Given the description of an element on the screen output the (x, y) to click on. 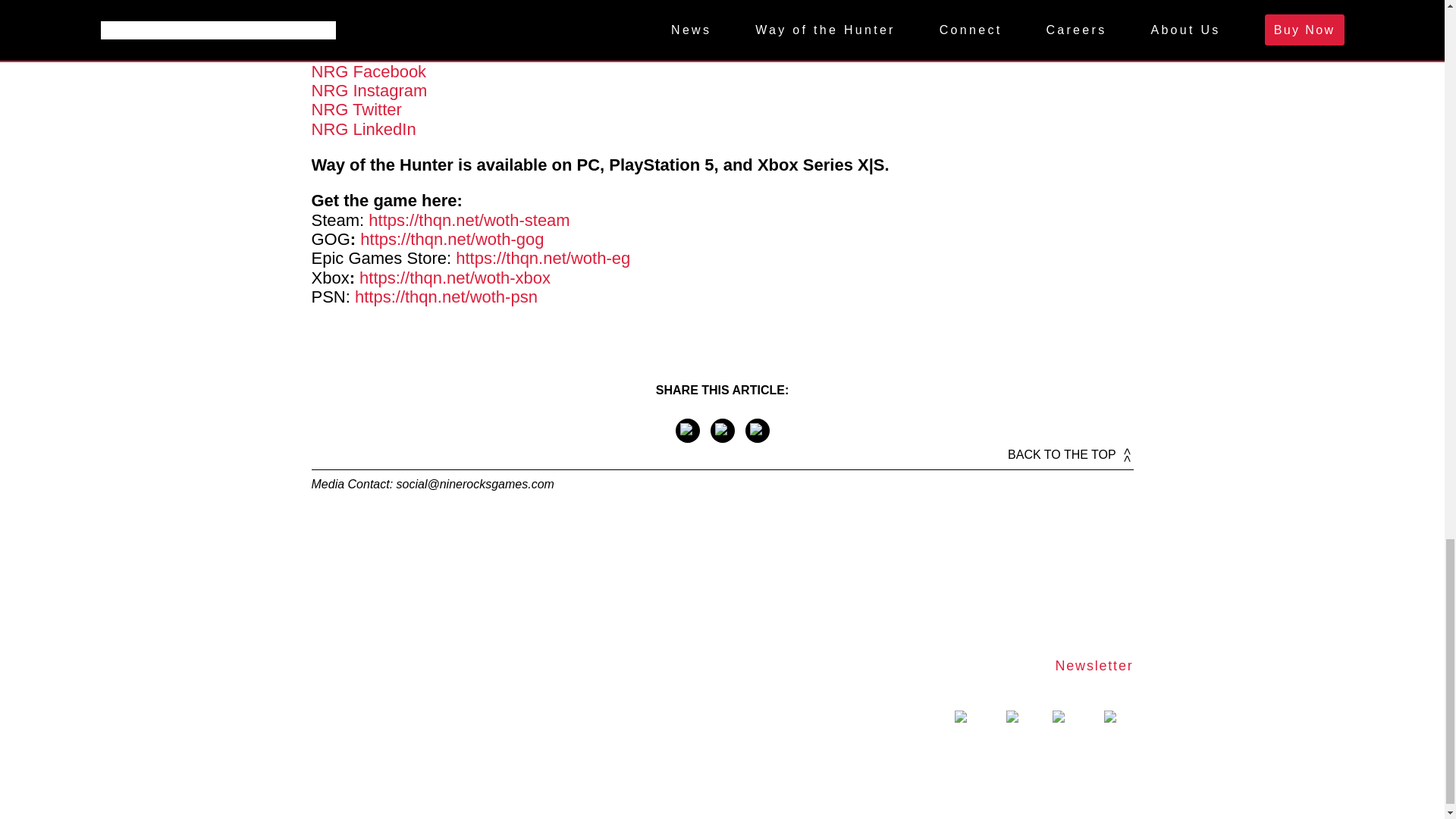
NRG Instagram (368, 90)
WOTH Instagram (376, 3)
NRG Twitter (356, 108)
WOTH Web (355, 35)
Newsletter (1093, 665)
PRESS (979, 754)
NRG LinkedIn (362, 128)
NRG Facebook (368, 71)
PRIVACY POLICY (1078, 754)
Discord (339, 15)
